Given the description of an element on the screen output the (x, y) to click on. 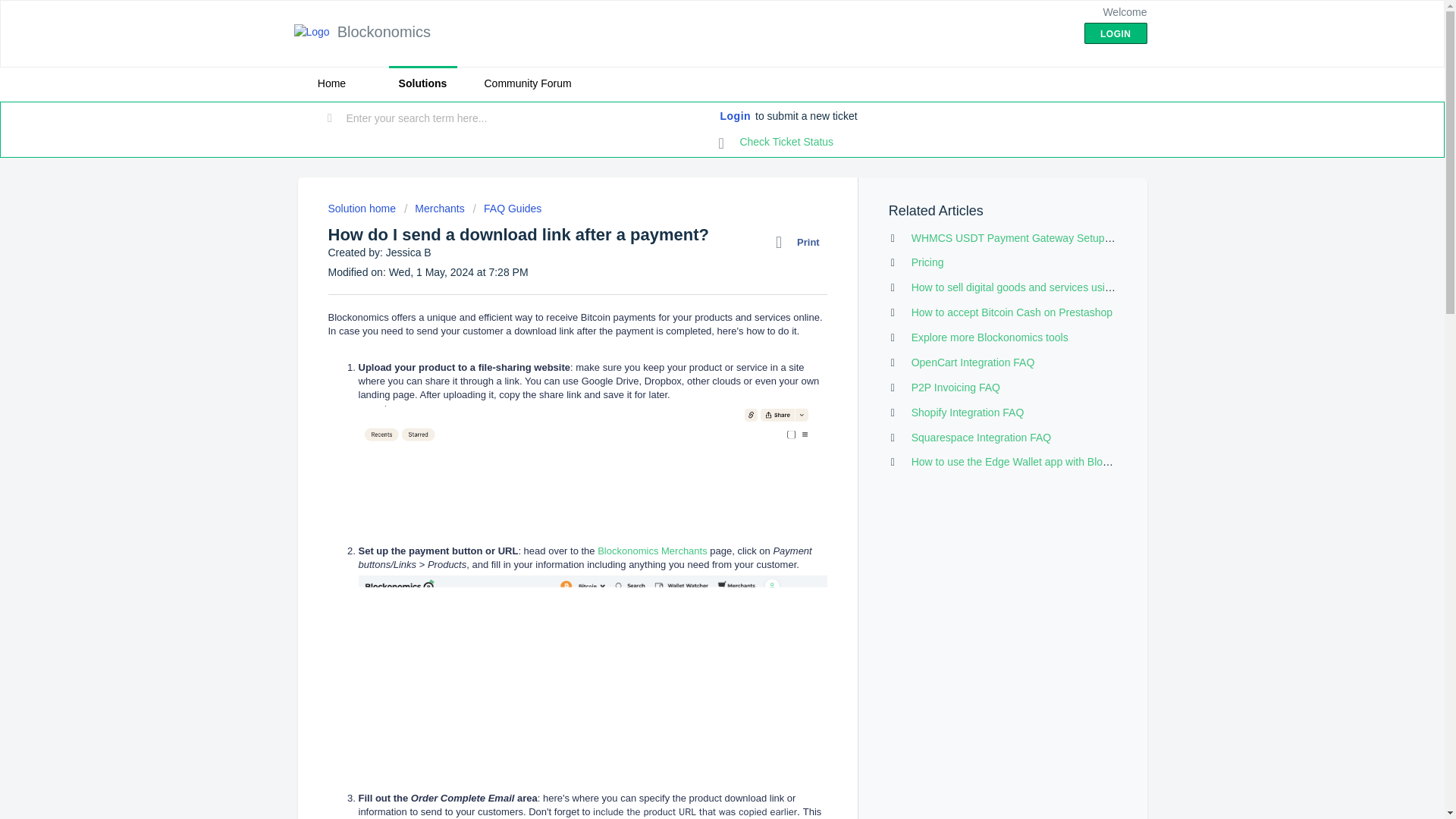
Check Ticket Status (776, 142)
Community Forum (527, 83)
Print this Article (801, 242)
Merchants (434, 208)
P2P Invoicing FAQ (955, 387)
Print (801, 242)
Home (331, 83)
Pricing (927, 262)
Check ticket status (776, 142)
Solution home (362, 208)
WHMCS USDT Payment Gateway Setup Guide (1023, 237)
Squarespace Integration FAQ (981, 437)
LOGIN (1115, 33)
OpenCart Integration FAQ (973, 362)
Login (735, 116)
